Given the description of an element on the screen output the (x, y) to click on. 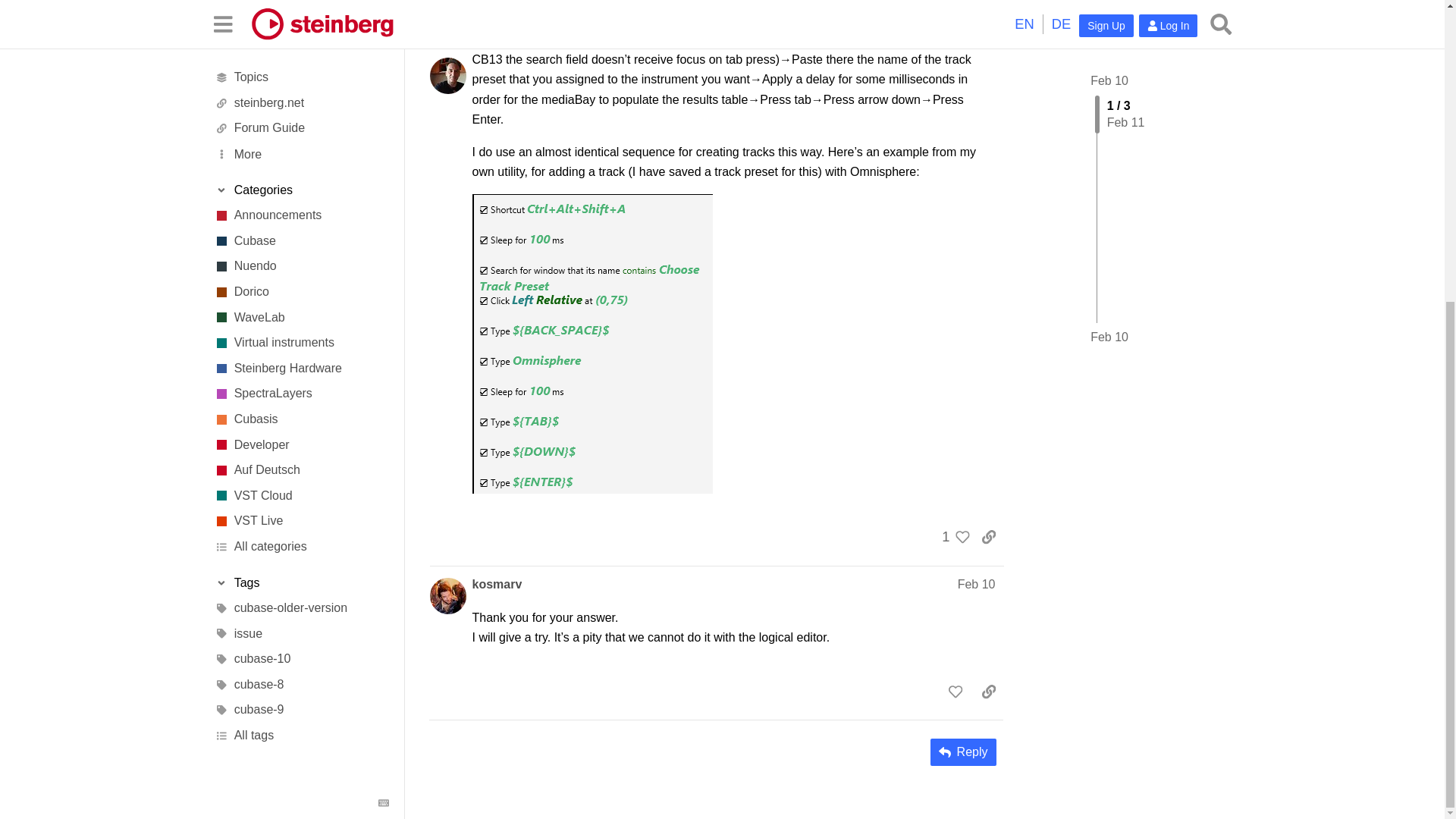
VST Live (301, 51)
Auf Deutsch (301, 6)
cubase-older-version (301, 137)
All tags (301, 265)
Advanced Live Performance System. (301, 51)
All categories (301, 76)
cubase-10 (301, 189)
cubase-9 (301, 240)
cubase-8 (301, 214)
Toggle section (301, 112)
